Given the description of an element on the screen output the (x, y) to click on. 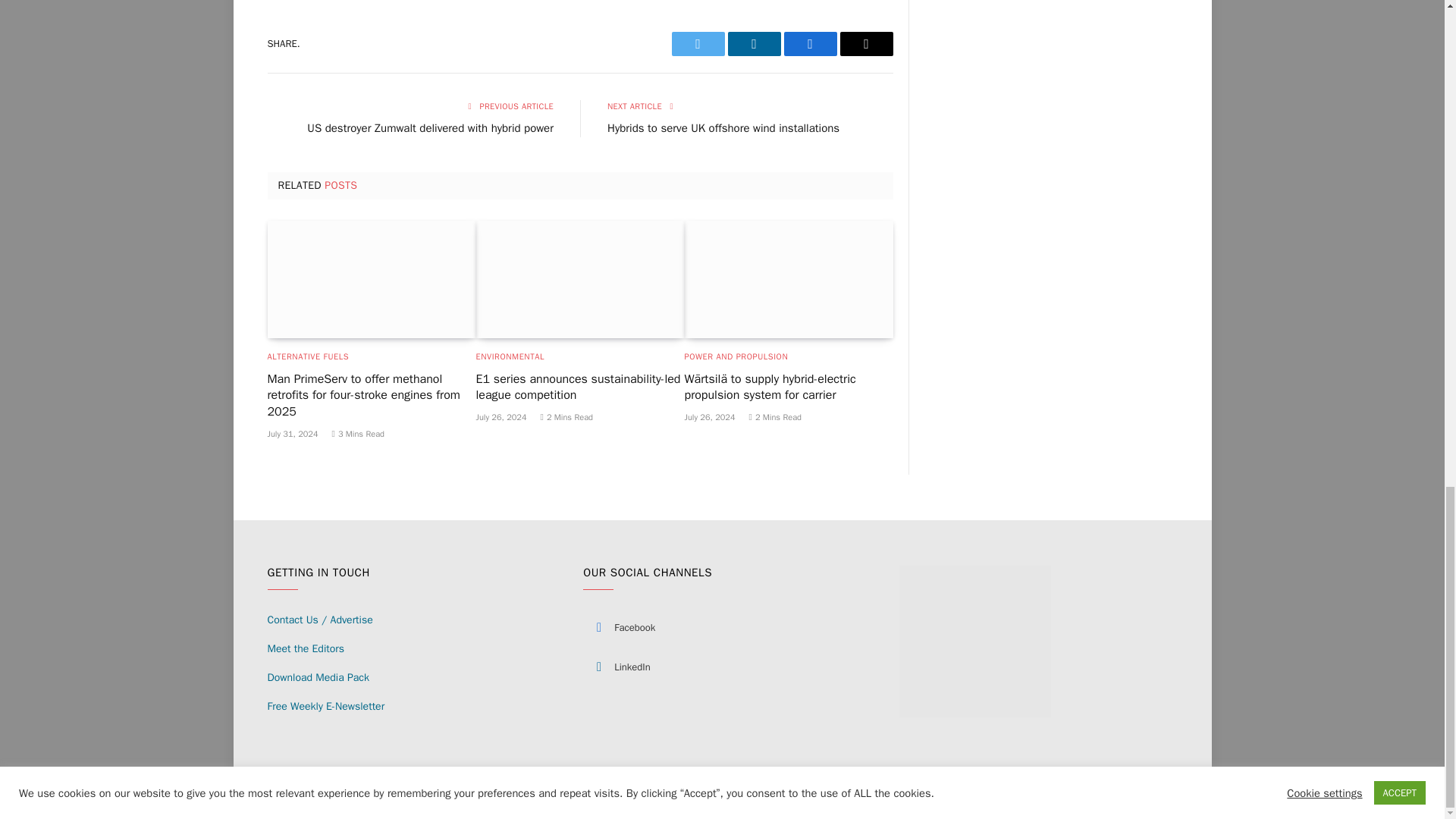
Share on Twitter (698, 43)
Share on LinkedIn (754, 43)
